Given the description of an element on the screen output the (x, y) to click on. 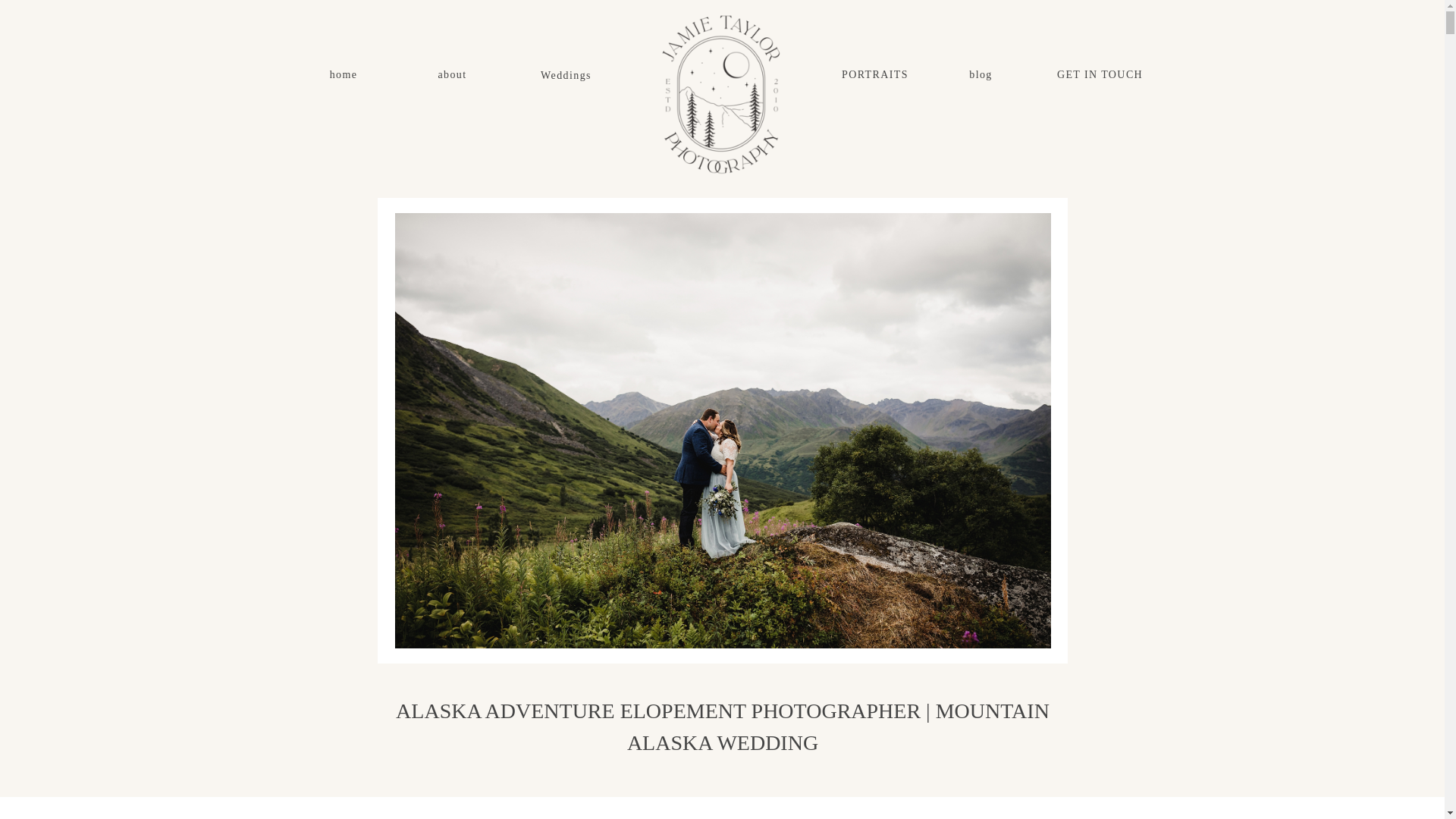
blog (980, 81)
about (452, 81)
GET IN TOUCH (1100, 81)
home (343, 81)
PORTRAITS (875, 74)
Weddings (565, 82)
